Given the description of an element on the screen output the (x, y) to click on. 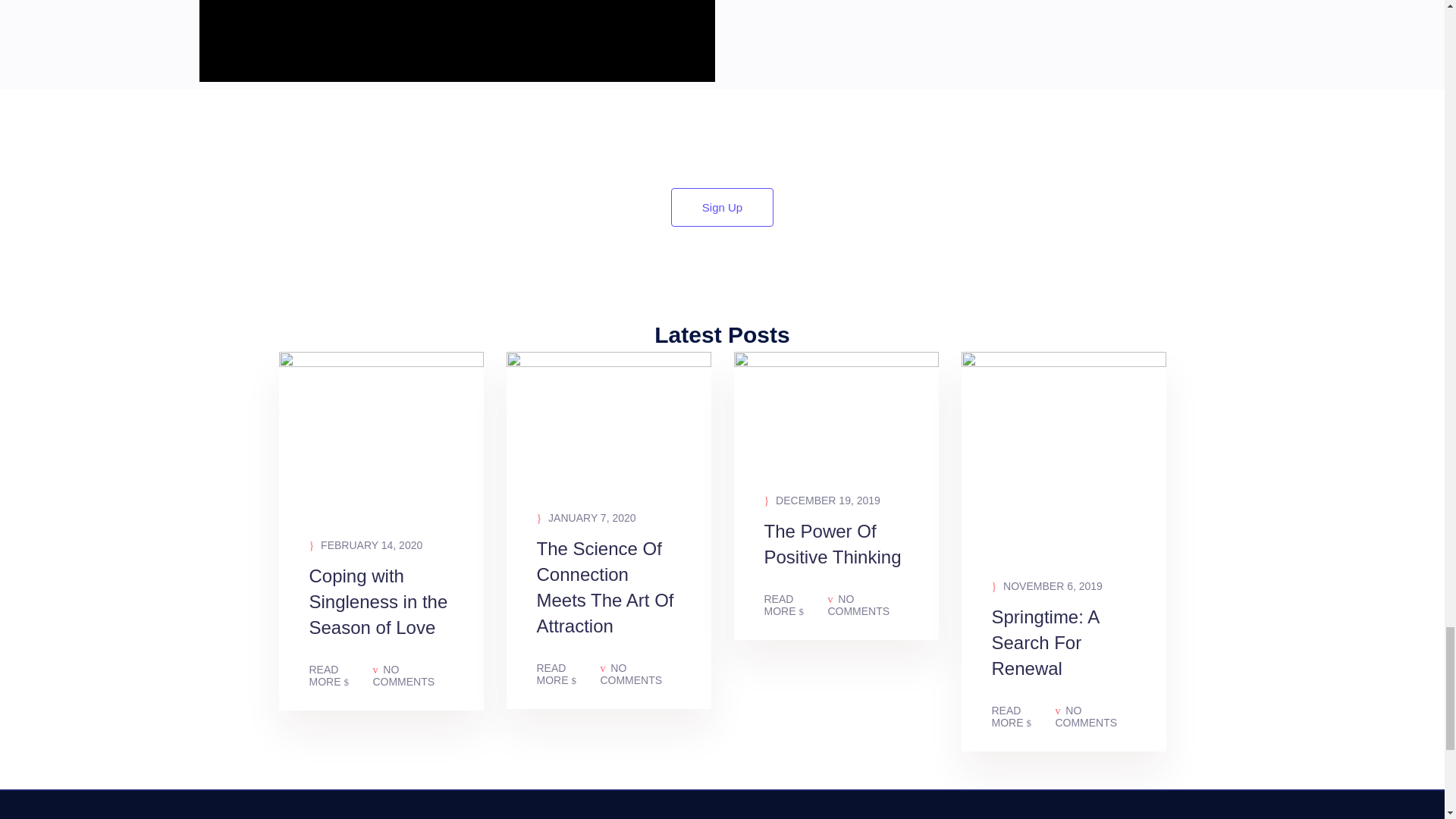
READ MORE (796, 604)
READ MORE (568, 673)
Coping with Singleness in the Season of Love (380, 614)
FEBRUARY 14, 2020 (365, 545)
NO COMMENTS (1094, 716)
NO COMMENTS (412, 675)
Springtime: A Search For Renewal (1063, 655)
Sign Up (722, 207)
NO COMMENTS (867, 604)
READ MORE (340, 675)
